Given the description of an element on the screen output the (x, y) to click on. 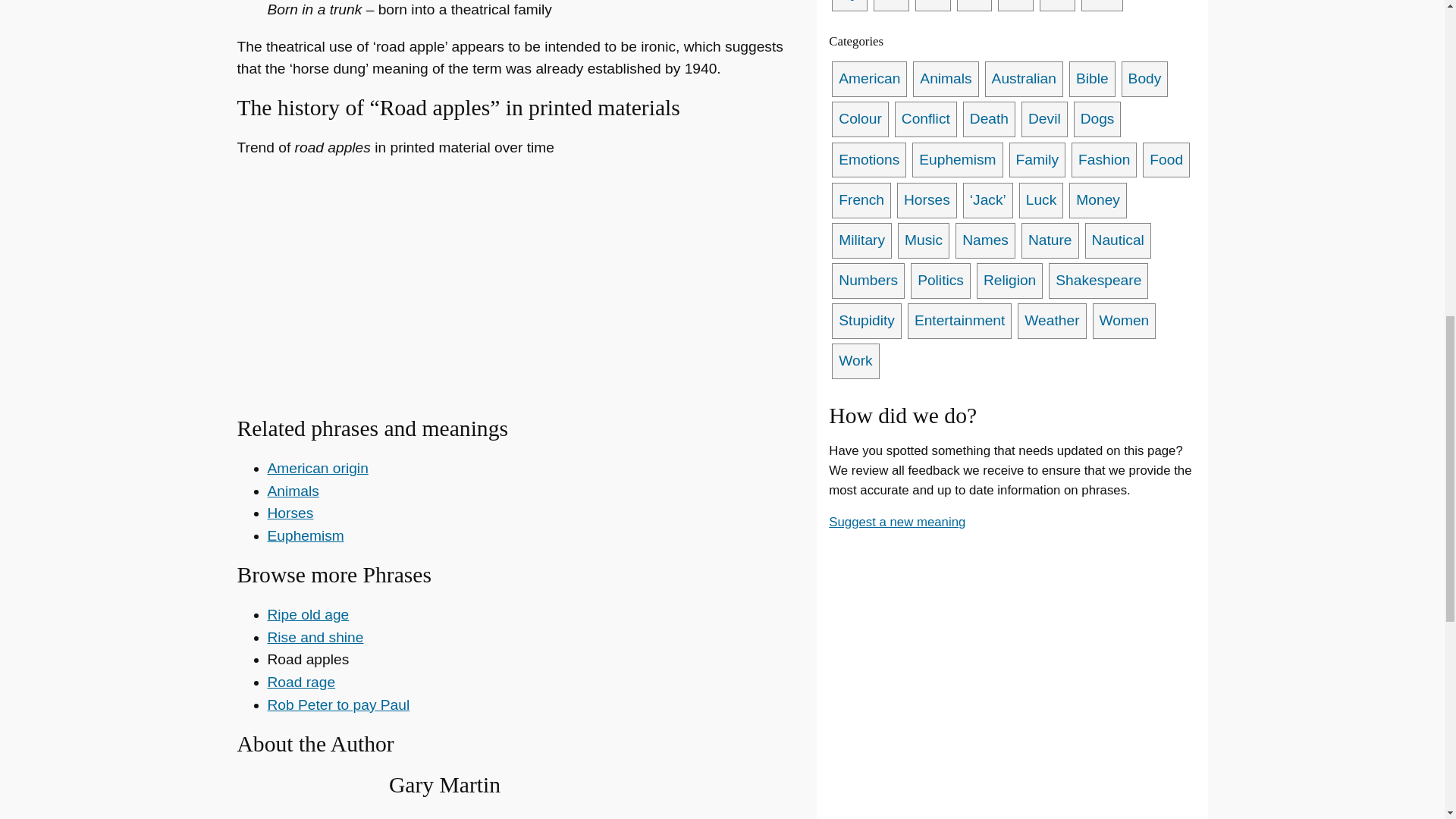
Ripe old age (307, 614)
American origin (317, 467)
Rob Peter to pay Paul (337, 704)
UV (1015, 5)
Road rage (300, 682)
Rob Peter to pay Paul (337, 704)
Ripe old age (307, 614)
Animals (292, 490)
Horses (289, 512)
Rise and shine (314, 637)
